Given the description of an element on the screen output the (x, y) to click on. 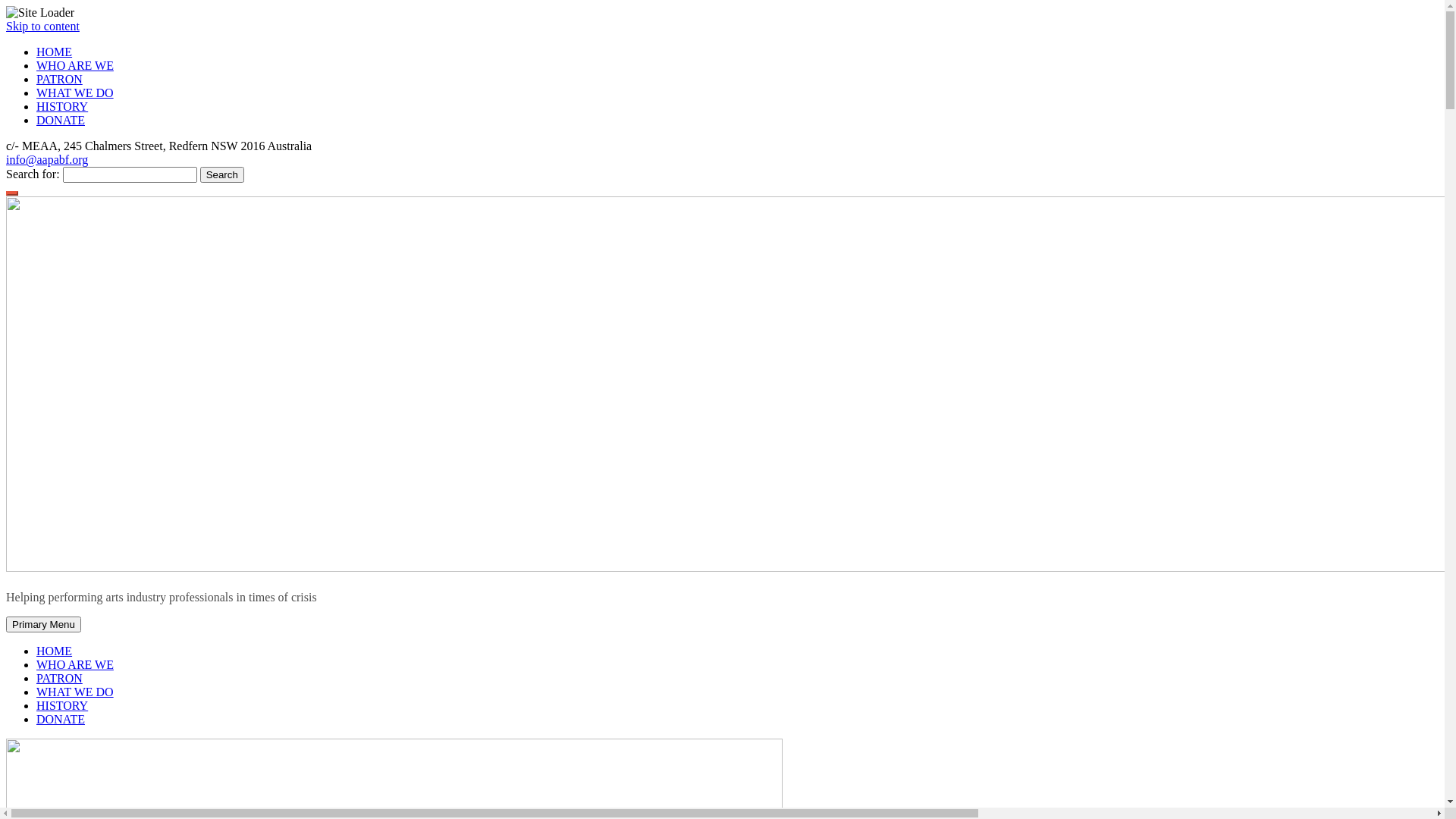
DONATE Element type: text (60, 718)
WHO ARE WE Element type: text (74, 664)
HOME Element type: text (54, 650)
Search Element type: text (222, 174)
Skip to content Element type: text (42, 25)
WHAT WE DO Element type: text (74, 92)
HISTORY Element type: text (61, 106)
DONATE Element type: text (60, 119)
HISTORY Element type: text (61, 705)
info@aapabf.org Element type: text (46, 159)
PATRON Element type: text (59, 78)
HOME Element type: text (54, 51)
PATRON Element type: text (59, 677)
Primary Menu Element type: text (43, 624)
WHAT WE DO Element type: text (74, 691)
WHO ARE WE Element type: text (74, 65)
